Given the description of an element on the screen output the (x, y) to click on. 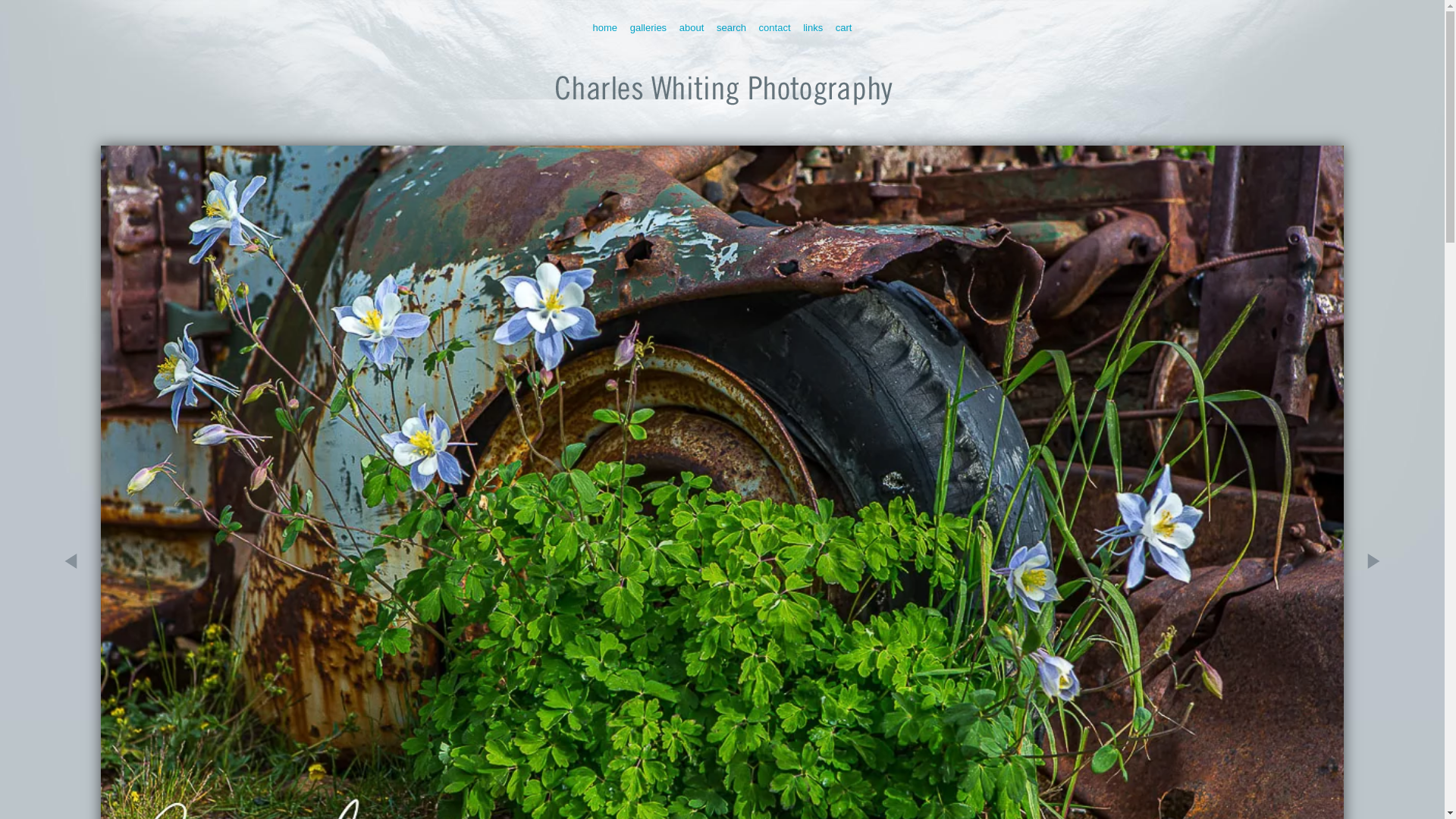
cart (843, 27)
search (731, 27)
Charles Whiting Photography (721, 112)
links (812, 27)
Previous Photo (80, 646)
about (691, 27)
Next Photo (1364, 646)
home (605, 27)
contact (774, 27)
galleries (647, 27)
